Given the description of an element on the screen output the (x, y) to click on. 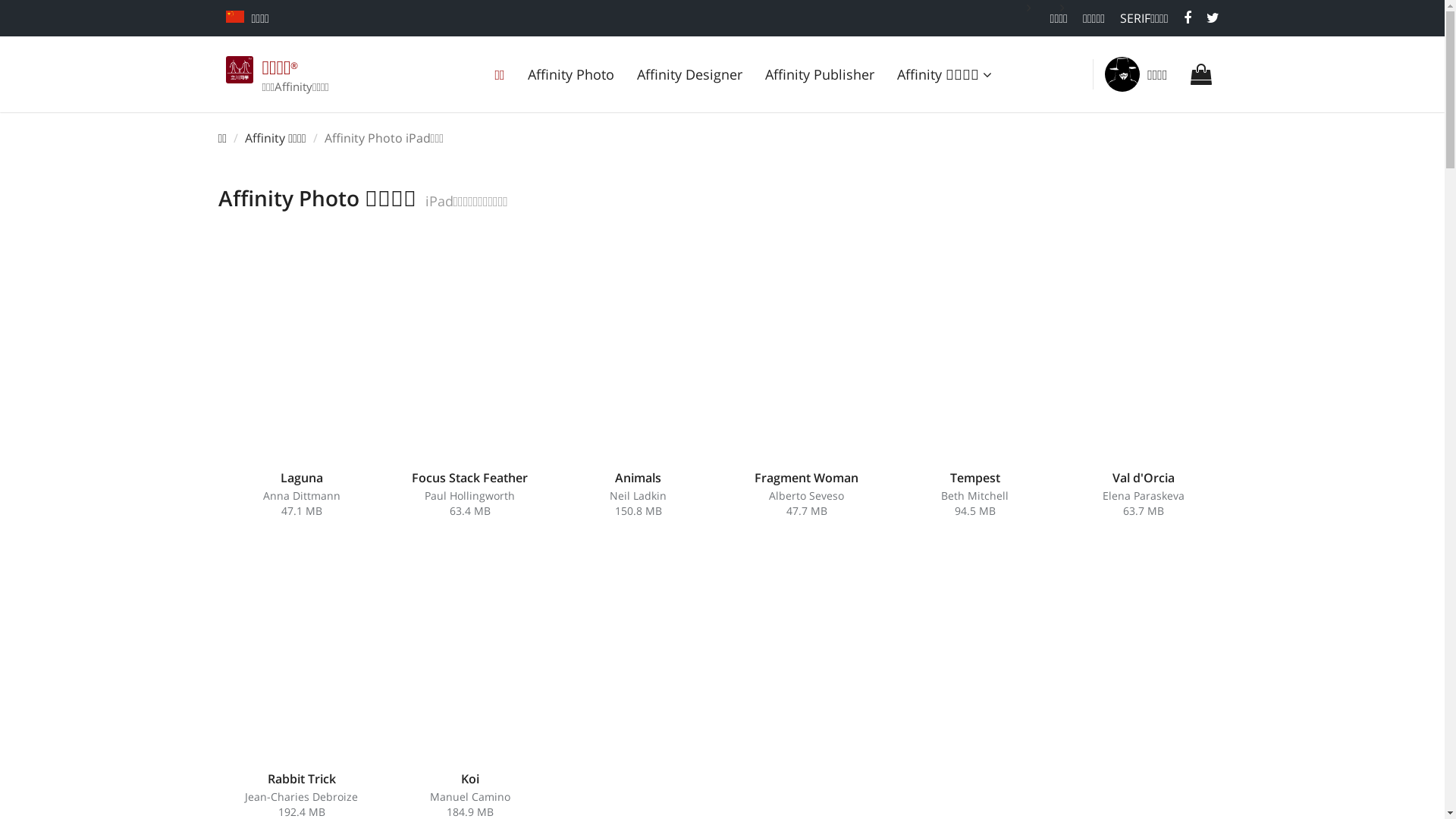
Fragment Woman Element type: text (806, 477)
Rabbit Trick Element type: text (300, 778)
Focus Stack Feather Element type: text (469, 477)
Affinity Publisher Element type: text (819, 74)
Laguna Element type: text (301, 477)
Val d'Orcia Element type: text (1142, 477)
Koi Element type: text (470, 778)
Tempest Element type: text (974, 477)
Animals Element type: text (638, 477)
Affinity Photo Element type: text (570, 74)
Affinity Designer Element type: text (689, 74)
